Given the description of an element on the screen output the (x, y) to click on. 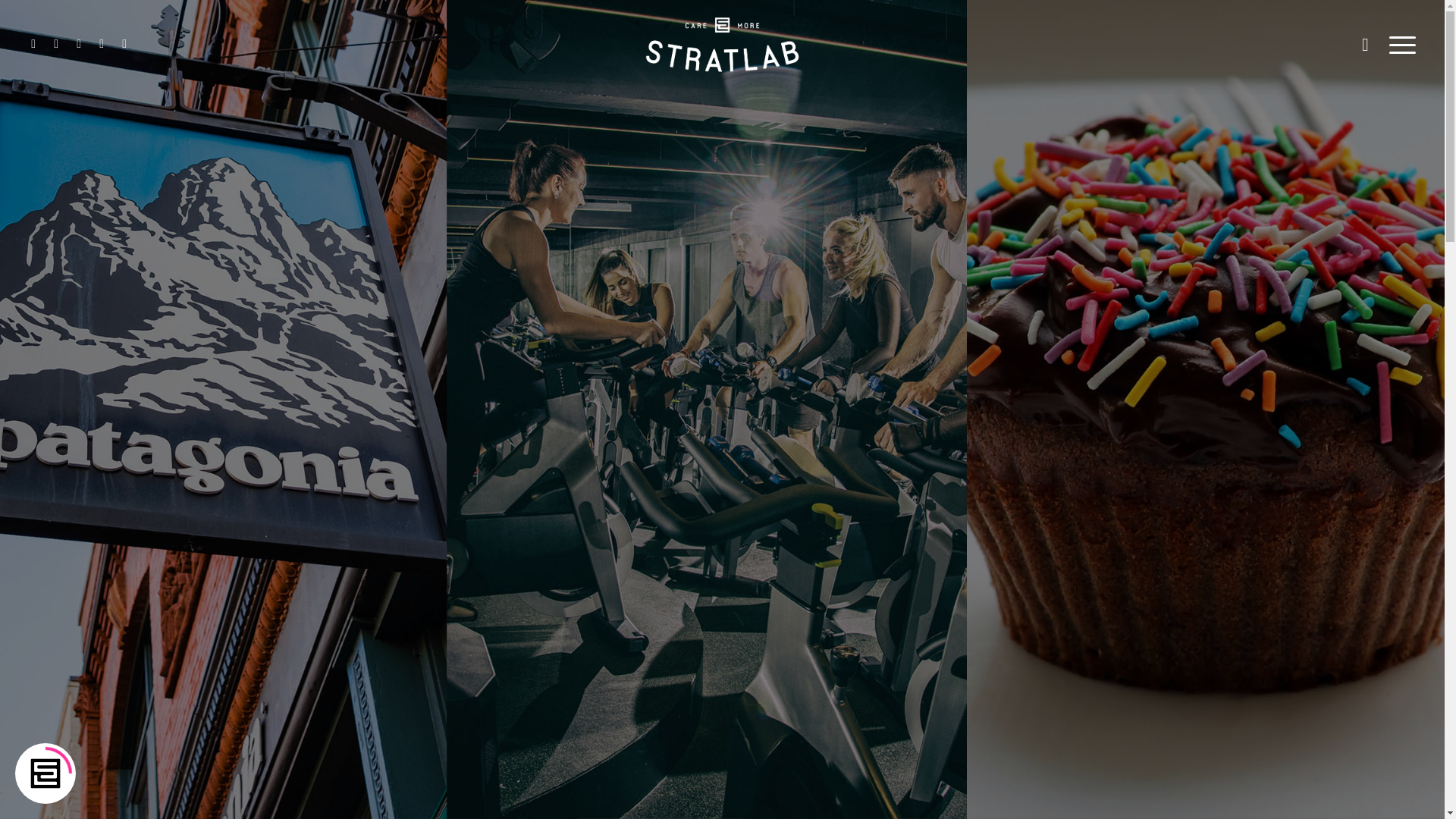
LinkedIn (78, 43)
500px (124, 43)
Youtube (101, 43)
Instagram (55, 43)
Loading (45, 773)
Facebook (33, 43)
